Given the description of an element on the screen output the (x, y) to click on. 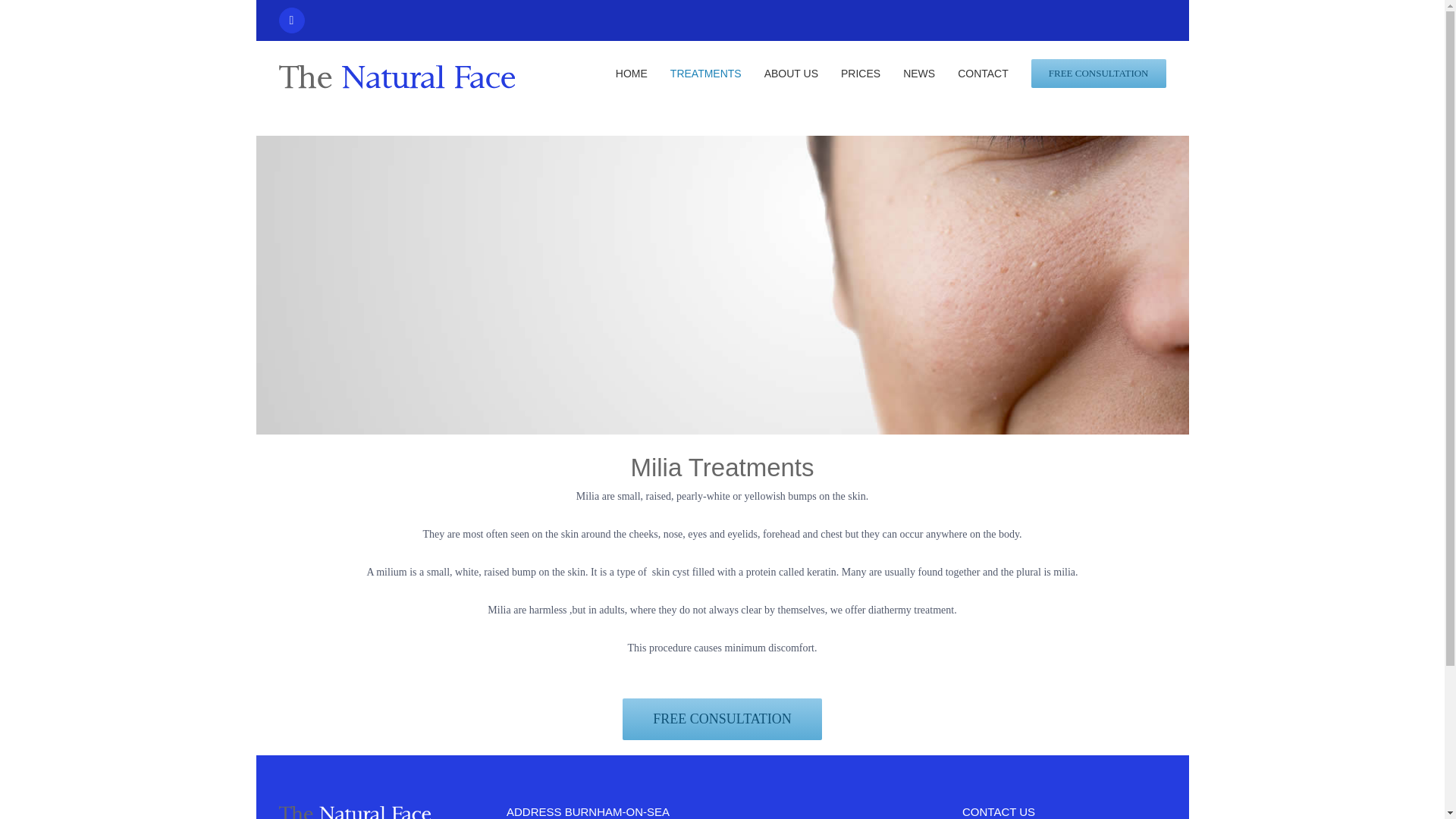
Facebook (291, 20)
TREATMENTS (705, 72)
CONTACT (983, 72)
FREE CONSULTATION (1098, 72)
HOME (631, 72)
PRICES (860, 72)
ABOUT US (791, 72)
NEWS (918, 72)
FREE CONSULTATION (722, 714)
